Given the description of an element on the screen output the (x, y) to click on. 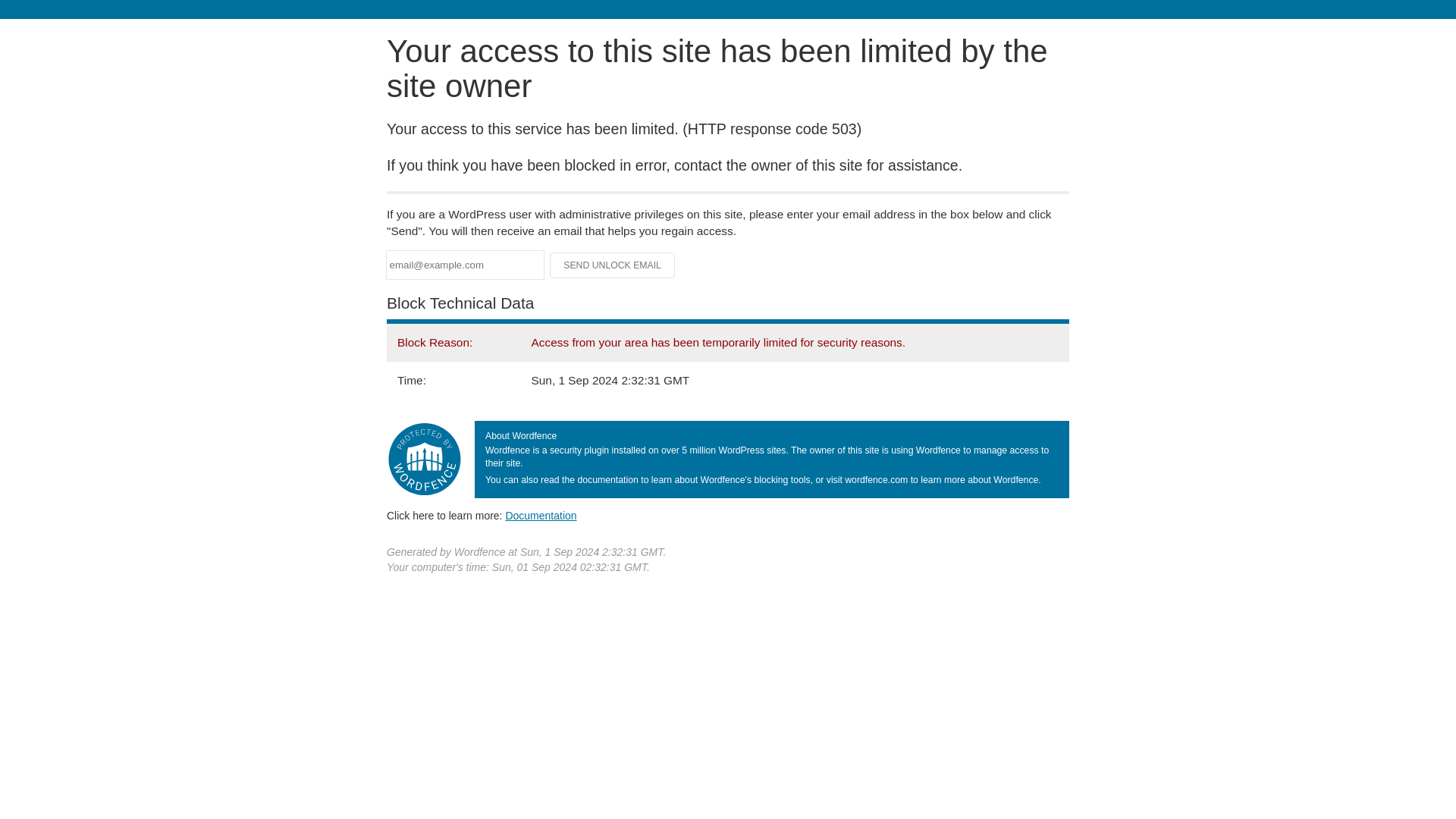
Send Unlock Email (612, 265)
Send Unlock Email (612, 265)
Documentation (540, 515)
